Given the description of an element on the screen output the (x, y) to click on. 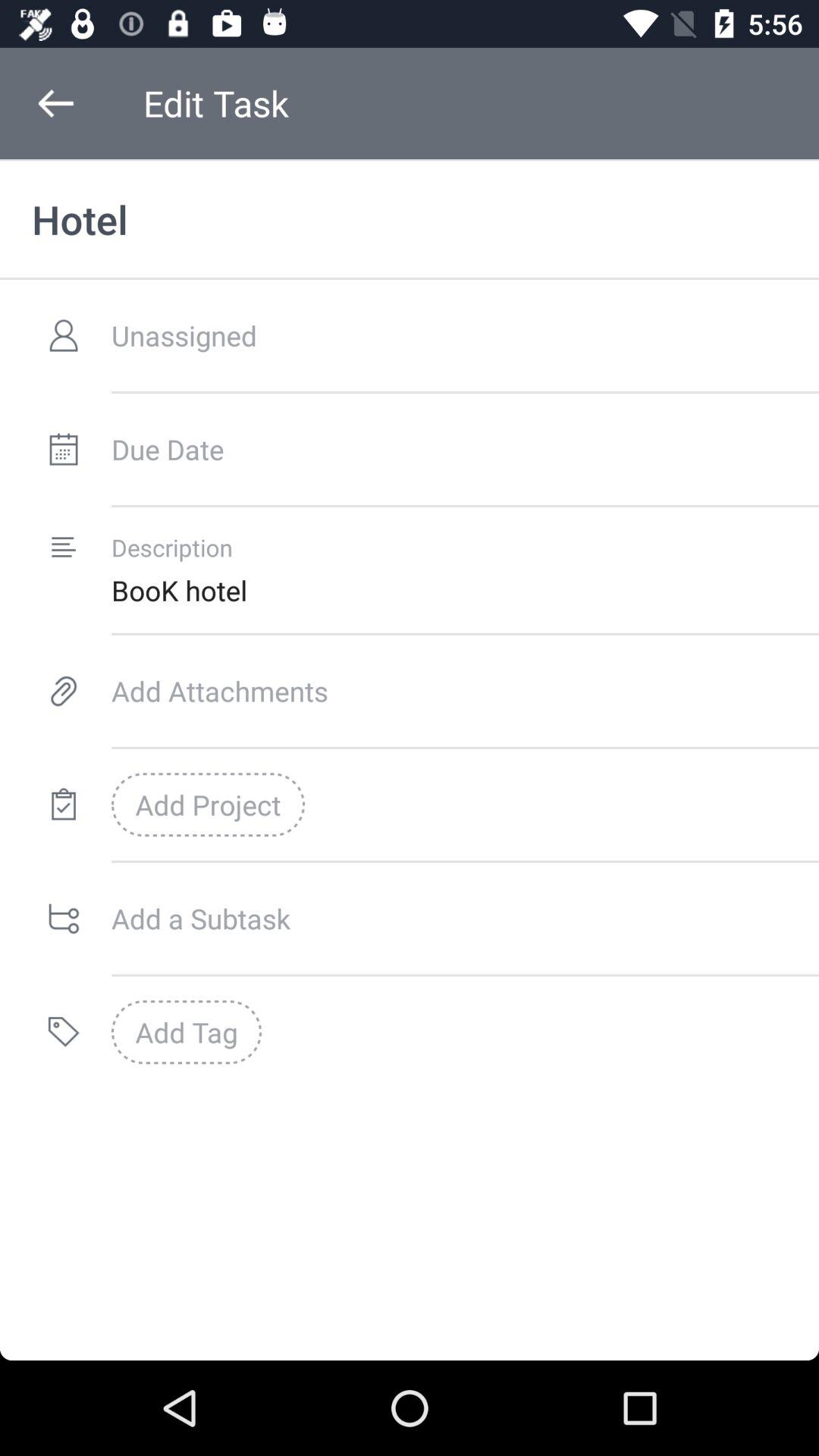
flip to add tag item (186, 1032)
